Given the description of an element on the screen output the (x, y) to click on. 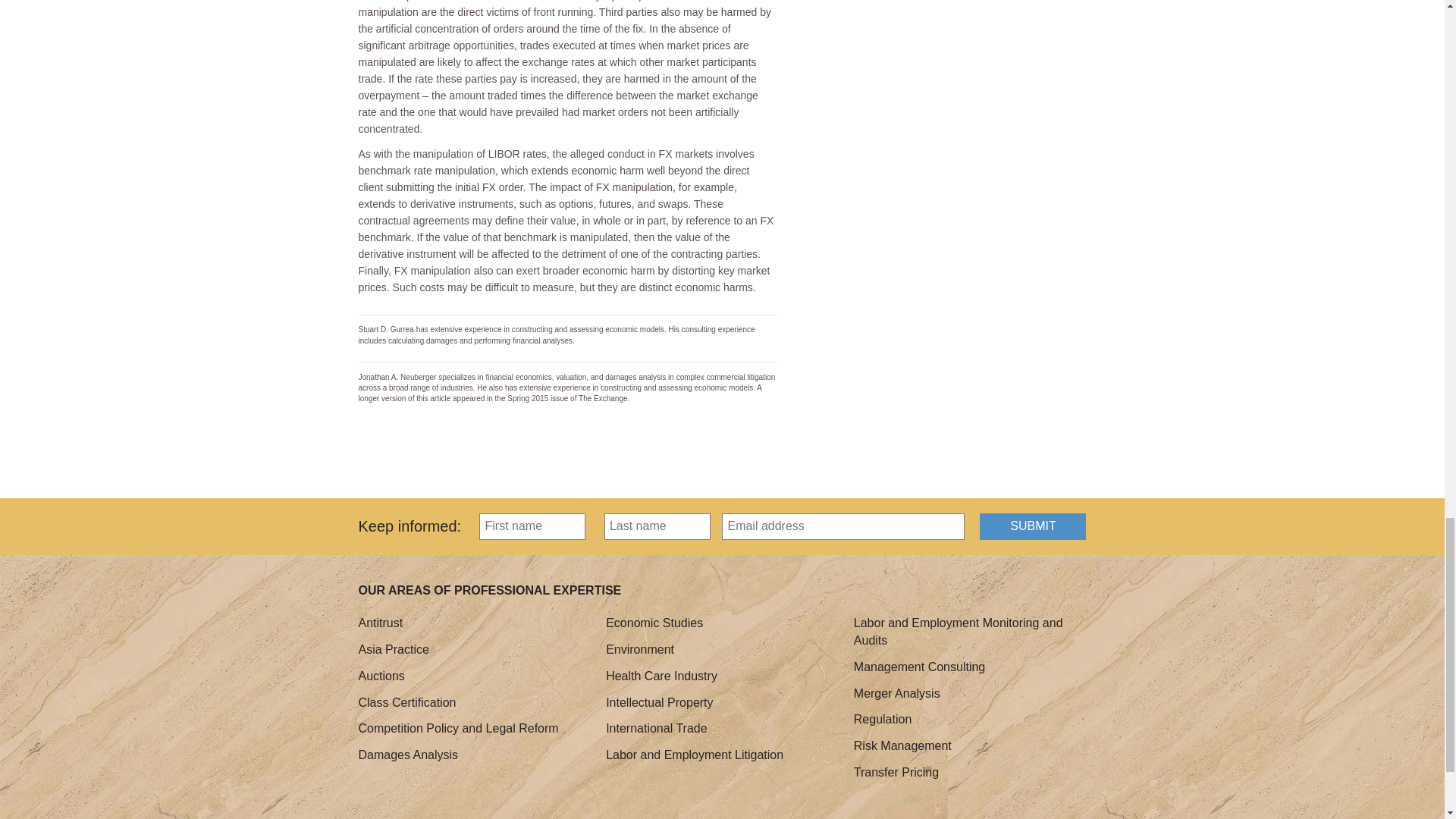
Submit (1032, 526)
